Given the description of an element on the screen output the (x, y) to click on. 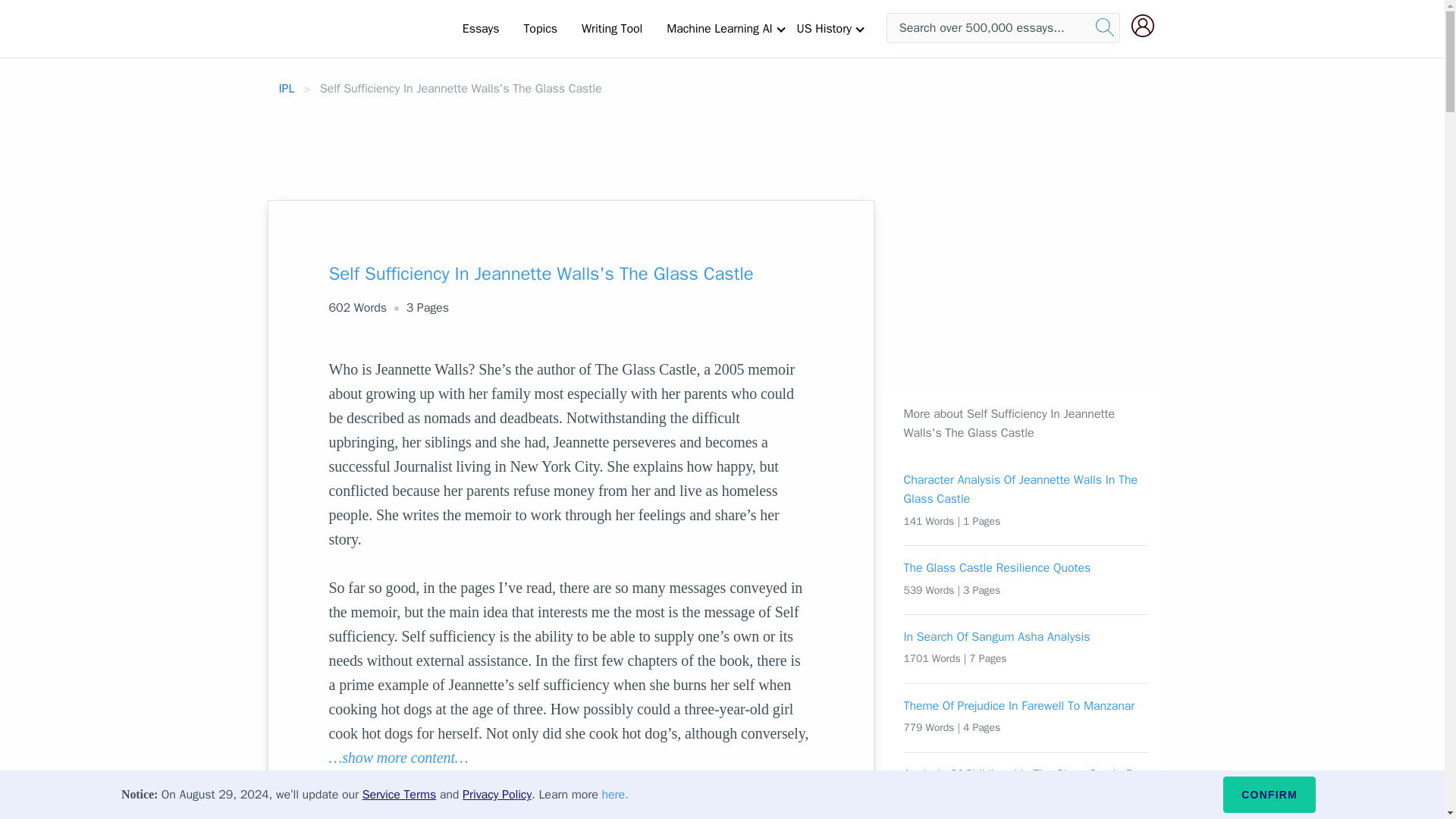
Writing Tool (611, 28)
Topics (540, 28)
IPL (287, 88)
mother (419, 781)
Essays (480, 28)
Machine Learning AI (718, 28)
US History (823, 28)
